Given the description of an element on the screen output the (x, y) to click on. 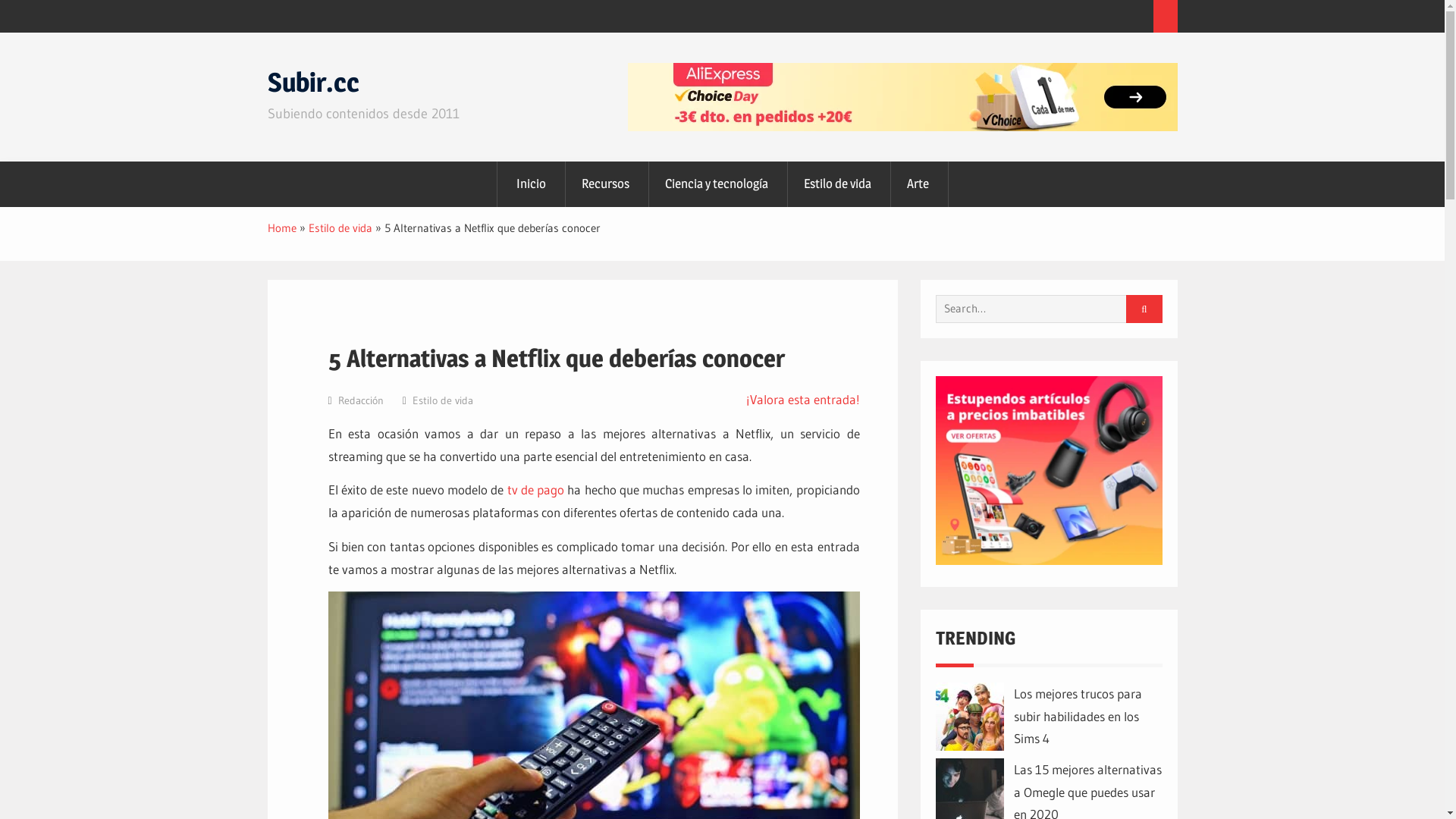
Estilo de vida Element type: text (339, 227)
Inicio Element type: text (529, 184)
Los mejores trucos para subir habilidades en los Sims 4 Element type: text (1077, 715)
tv de pago Element type: text (535, 489)
Subir.cc Element type: text (312, 81)
Arte Element type: text (917, 184)
Skip to content Element type: text (0, 32)
Recursos Element type: text (605, 184)
Search for: Element type: hover (1043, 308)
Home Element type: text (280, 227)
Estilo de vida Element type: text (442, 400)
Estilo de vida Element type: text (837, 184)
